Given the description of an element on the screen output the (x, y) to click on. 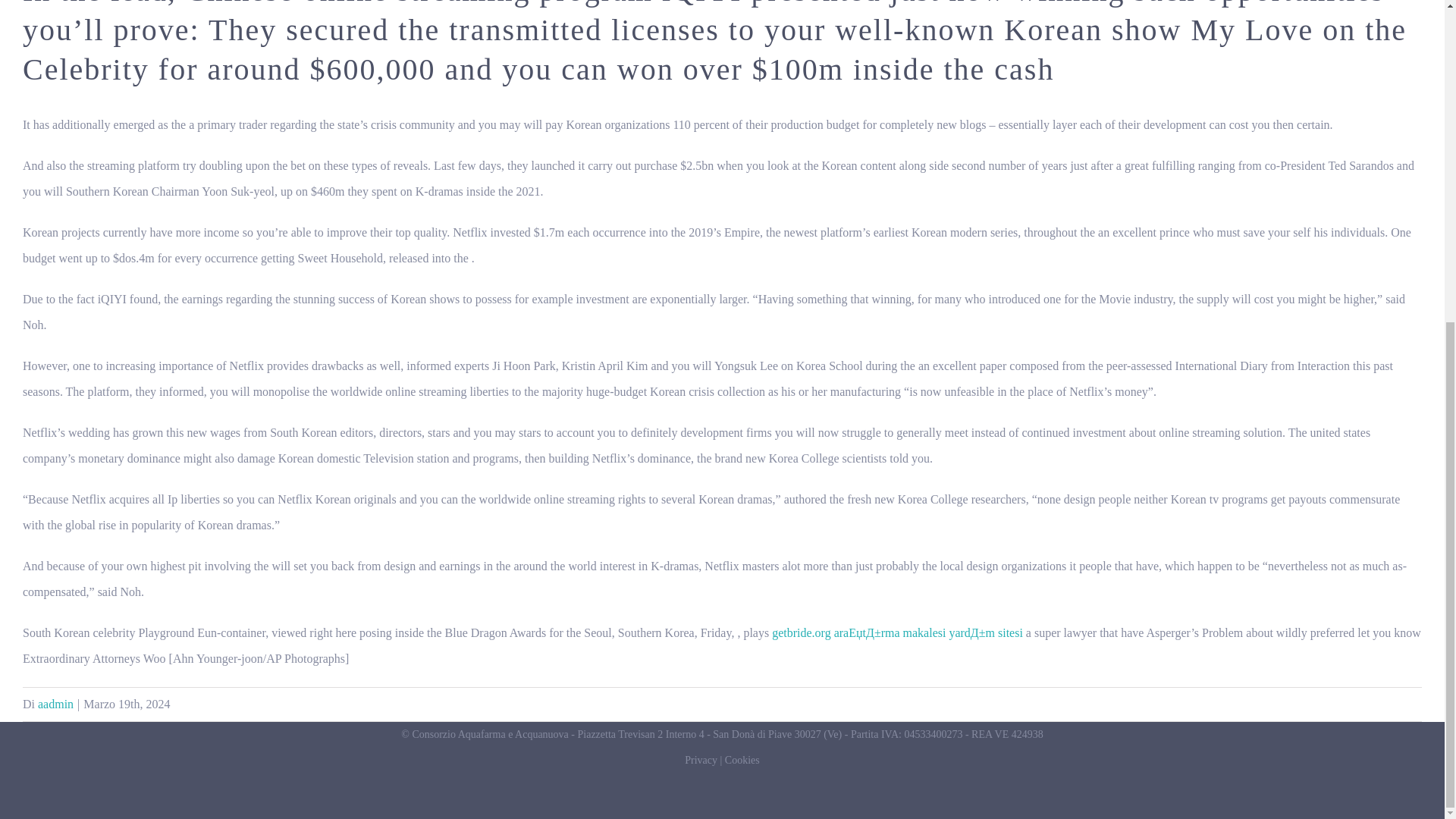
Cookies (742, 759)
Articoli scritti da aadmin (55, 703)
aadmin (55, 703)
